Given the description of an element on the screen output the (x, y) to click on. 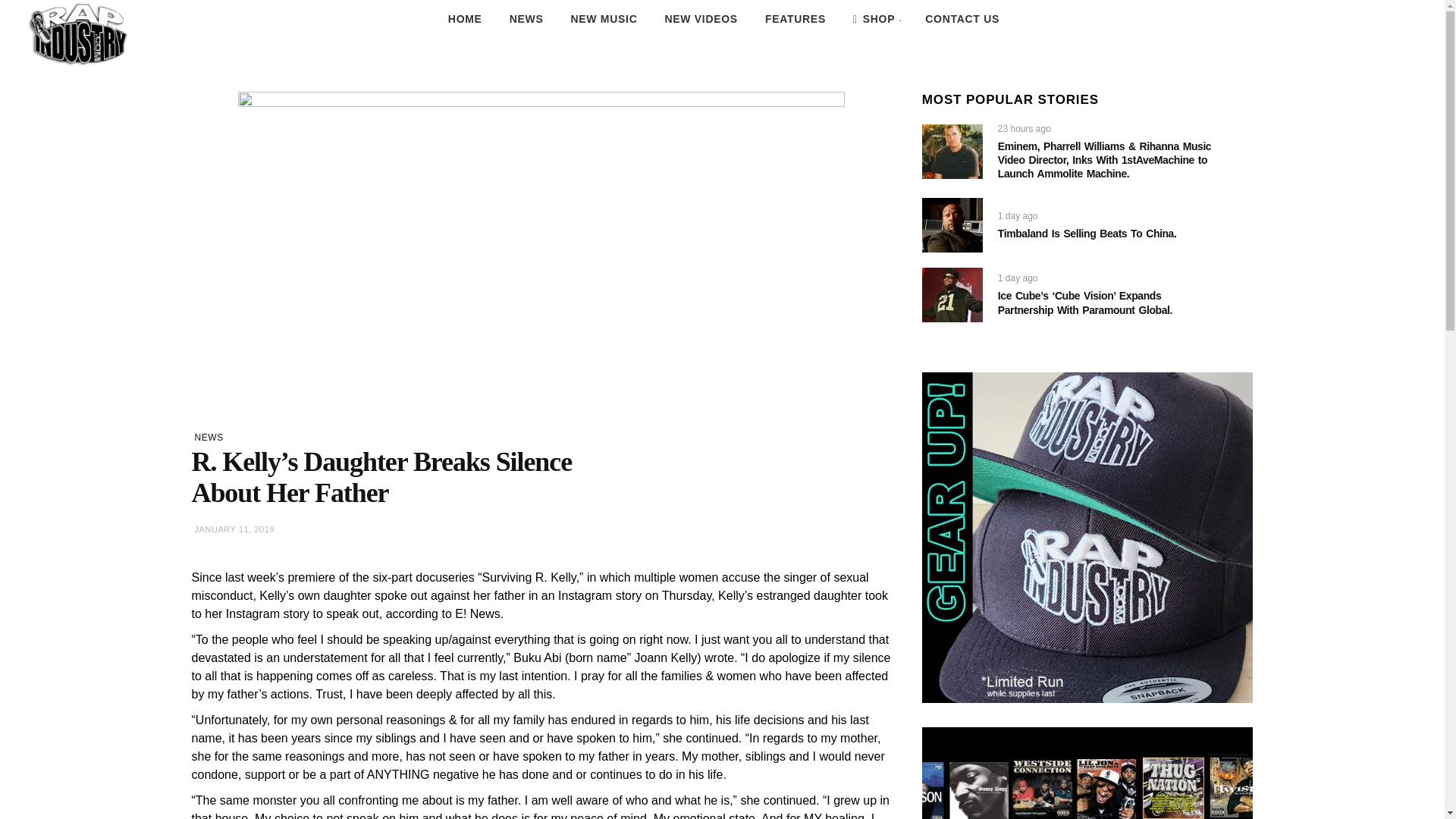
HOME (464, 19)
FEATURES (795, 19)
CONTACT US (962, 19)
NEW VIDEOS (700, 19)
Timbaland Is Selling Beats To China. (951, 225)
SHOP (875, 19)
Timbaland Is Selling Beats To China. (1086, 233)
NEWS (526, 19)
NEW MUSIC (603, 19)
